Given the description of an element on the screen output the (x, y) to click on. 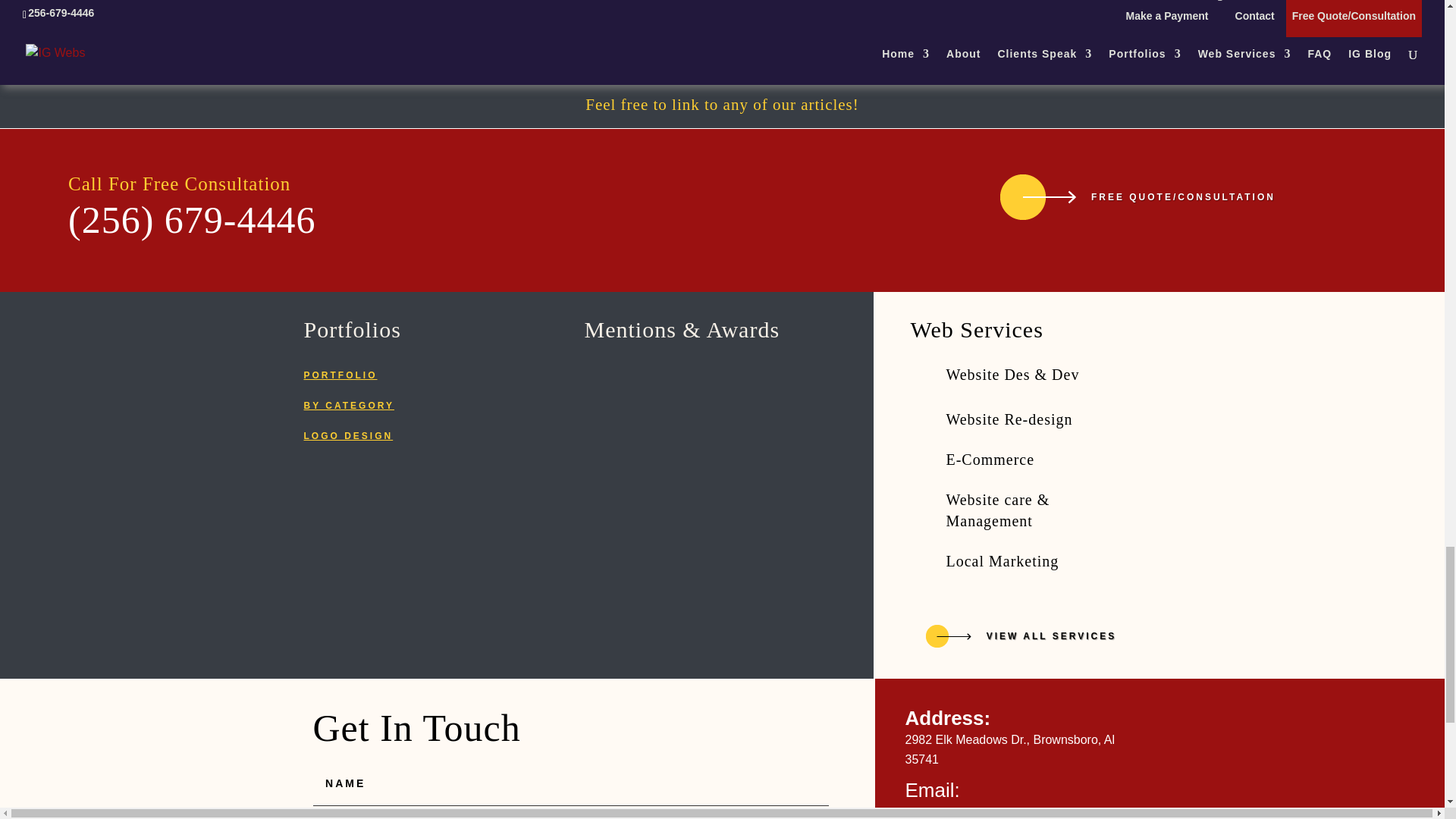
Highly Recommended by Locals On Alignable (767, 388)
